Given the description of an element on the screen output the (x, y) to click on. 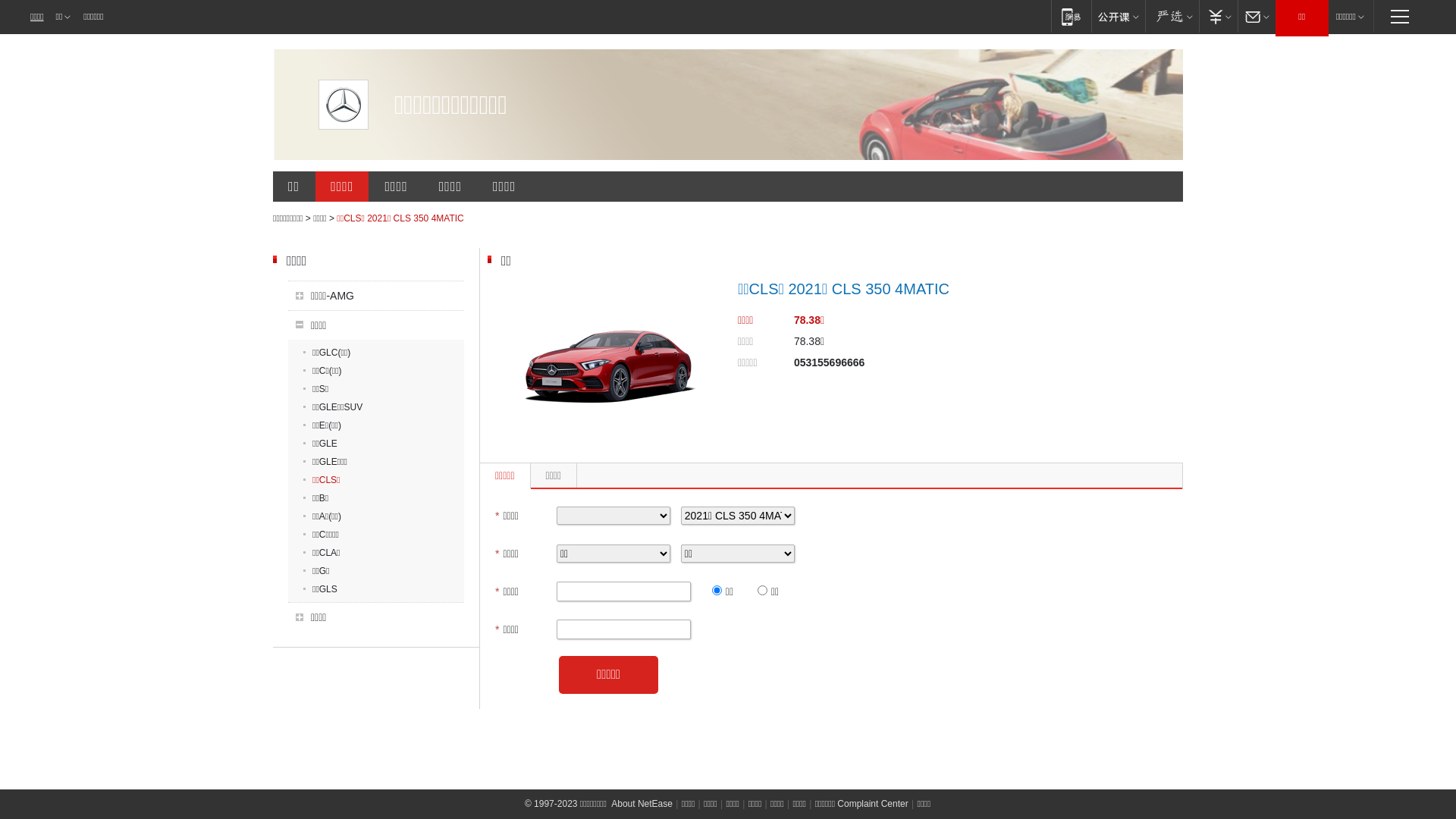
About NetEase Element type: text (641, 803)
